Given the description of an element on the screen output the (x, y) to click on. 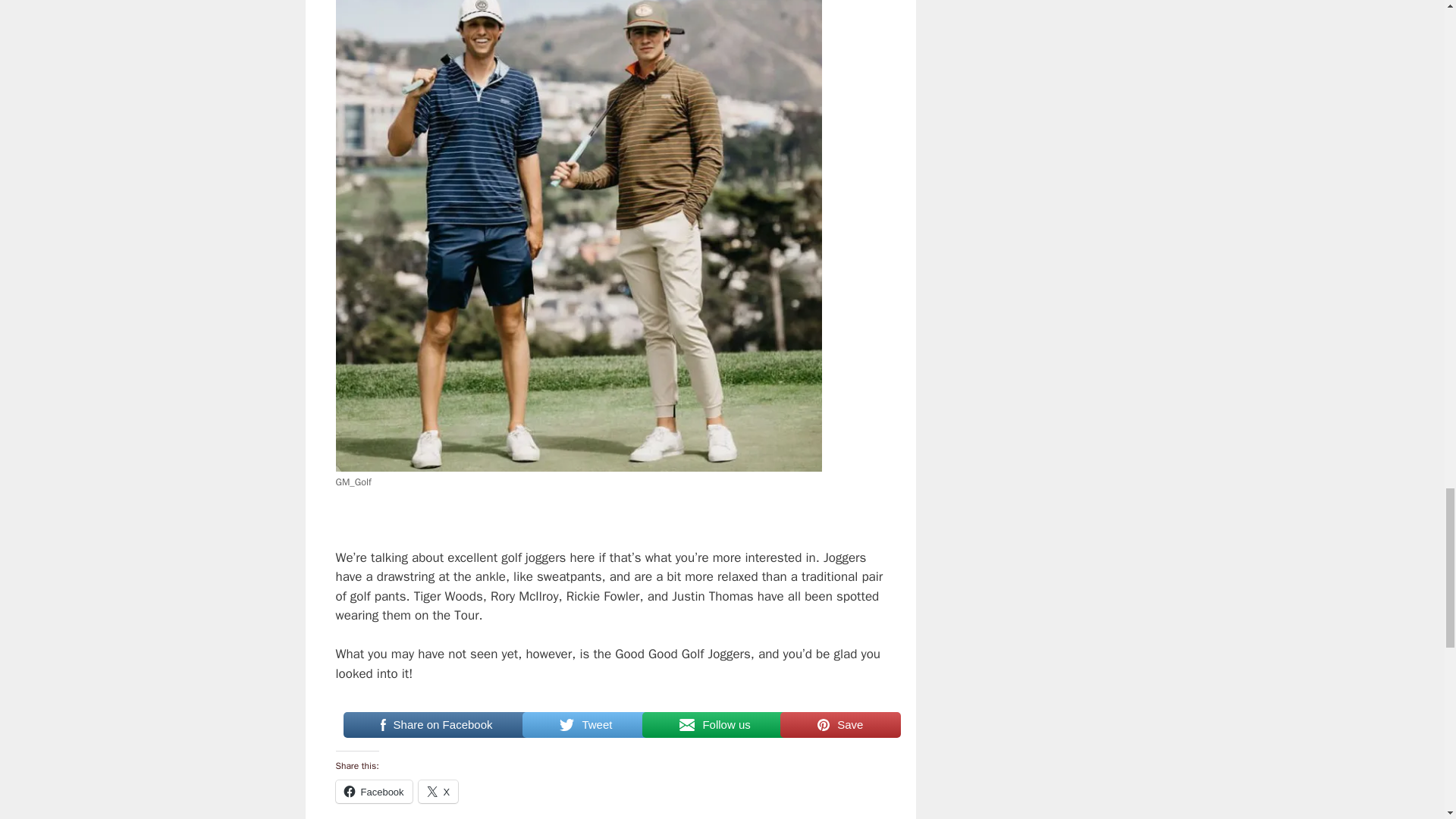
Click to share on Facebook (373, 791)
Follow us (707, 724)
Facebook (373, 791)
Click to share on X (438, 791)
X (438, 791)
Save (832, 724)
Share on Facebook (427, 724)
Tweet (578, 724)
